Given the description of an element on the screen output the (x, y) to click on. 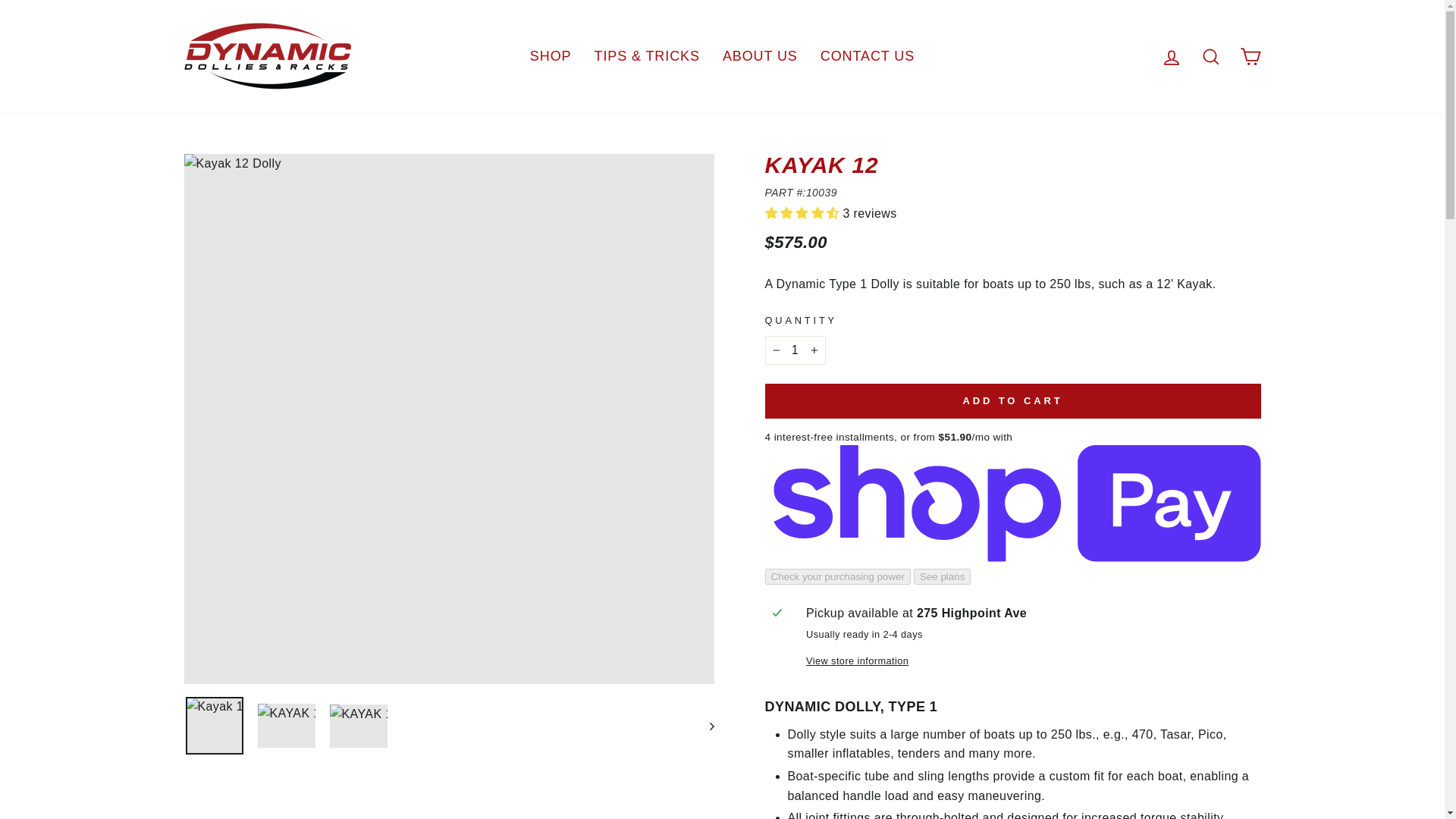
CONTACT US (867, 55)
SHOP (550, 55)
CART (1249, 55)
LOG IN (1171, 55)
ABOUT US (760, 55)
SEARCH (1210, 55)
1 (794, 349)
